Given the description of an element on the screen output the (x, y) to click on. 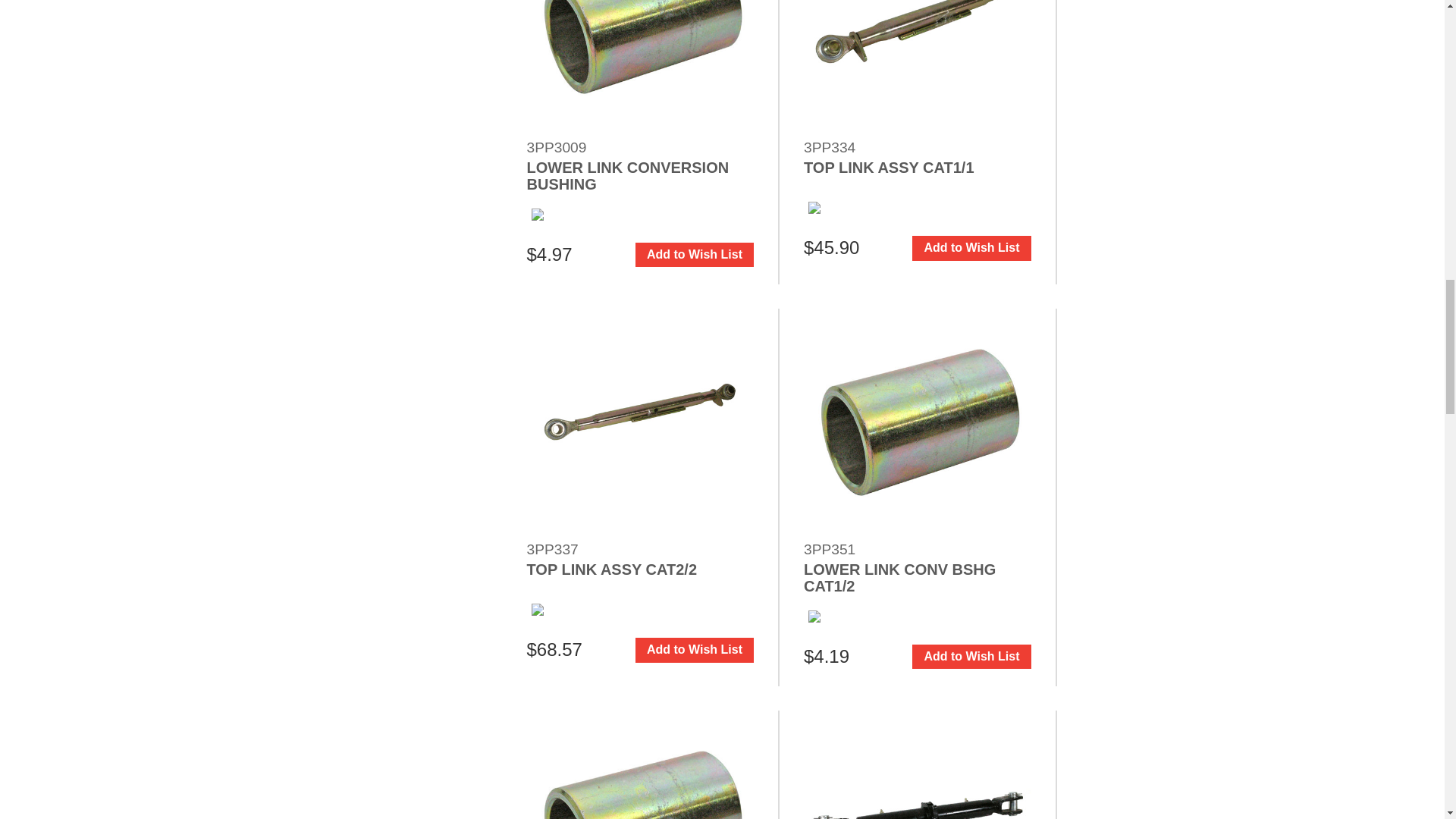
RATCHET JACK (916, 764)
LOWER LINK CONVERSION BUSHING (639, 67)
